Given the description of an element on the screen output the (x, y) to click on. 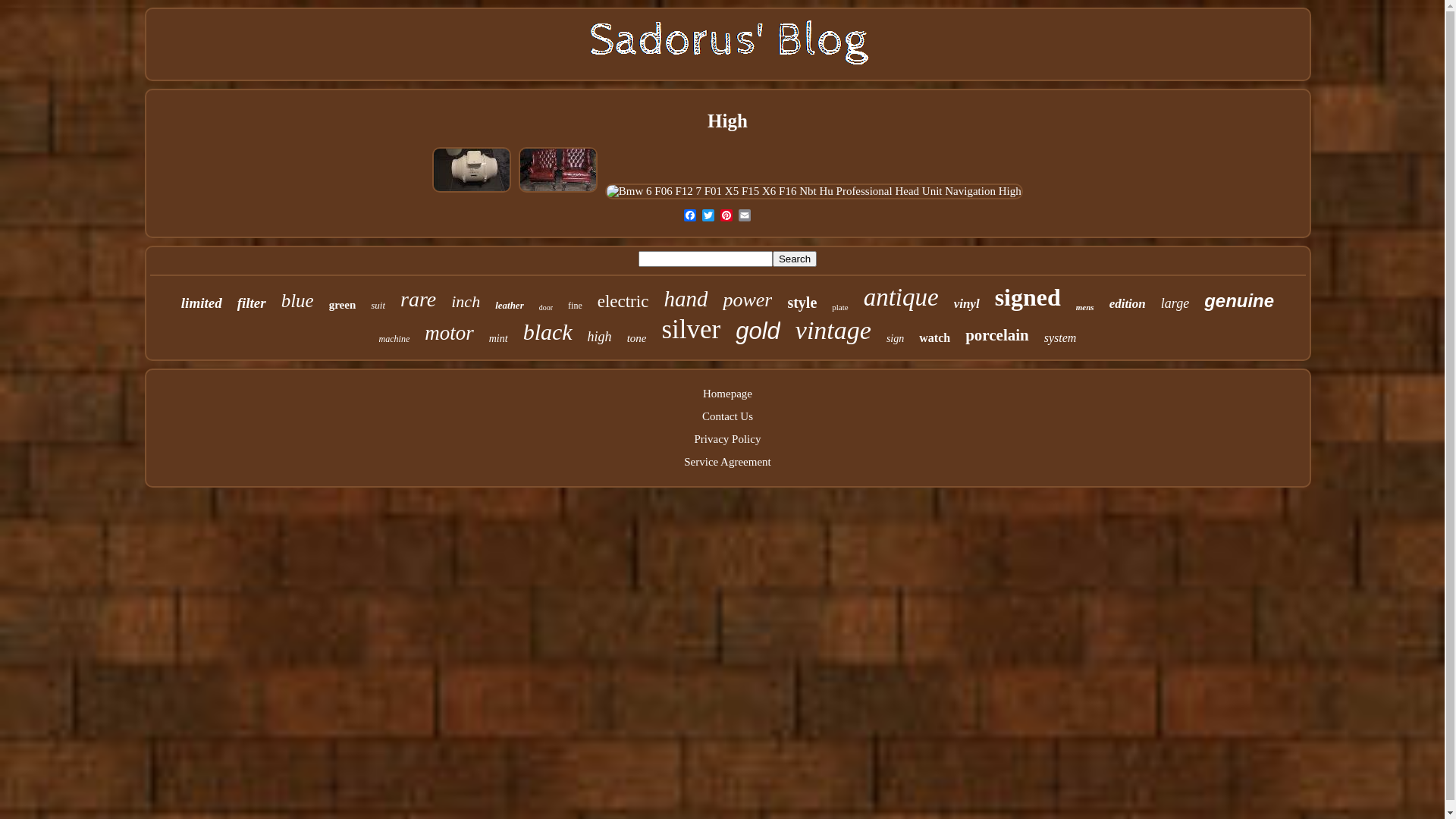
signed Element type: text (1027, 297)
black Element type: text (547, 331)
vinyl Element type: text (966, 302)
hand Element type: text (685, 298)
suit Element type: text (377, 304)
high Element type: text (599, 337)
mint Element type: text (498, 338)
gold Element type: text (757, 330)
machine Element type: text (394, 339)
silver Element type: text (690, 328)
door Element type: text (545, 307)
antique Element type: text (900, 297)
edition Element type: text (1127, 302)
vintage Element type: text (833, 329)
inch Element type: text (465, 300)
plate Element type: text (839, 305)
motor Element type: text (448, 333)
sign Element type: text (894, 338)
Service Agreement Element type: text (727, 461)
mens Element type: text (1085, 305)
filter Element type: text (251, 302)
leather Element type: text (509, 304)
Homepage Element type: text (727, 392)
rare Element type: text (418, 298)
fine Element type: text (574, 305)
Privacy Policy Element type: text (727, 438)
large Element type: text (1175, 303)
blue Element type: text (297, 299)
genuine Element type: text (1239, 299)
porcelain Element type: text (997, 335)
green Element type: text (342, 304)
power Element type: text (746, 299)
limited Element type: text (201, 302)
tone Element type: text (636, 338)
electric Element type: text (623, 300)
watch Element type: text (934, 337)
Contact Us Element type: text (727, 415)
Search Element type: text (794, 258)
style Element type: text (801, 302)
system Element type: text (1060, 337)
